Given the description of an element on the screen output the (x, y) to click on. 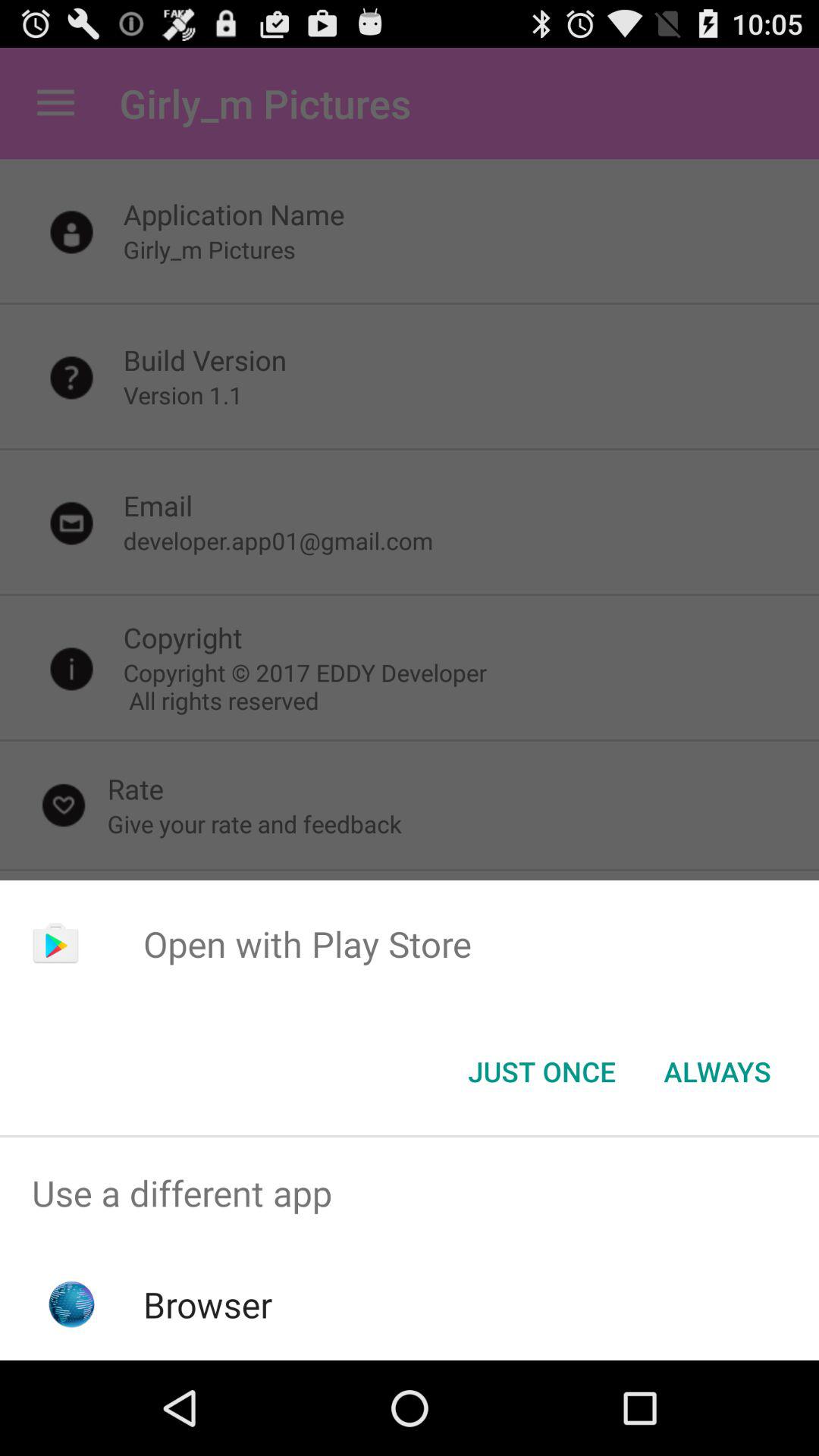
open item below the open with play (717, 1071)
